Given the description of an element on the screen output the (x, y) to click on. 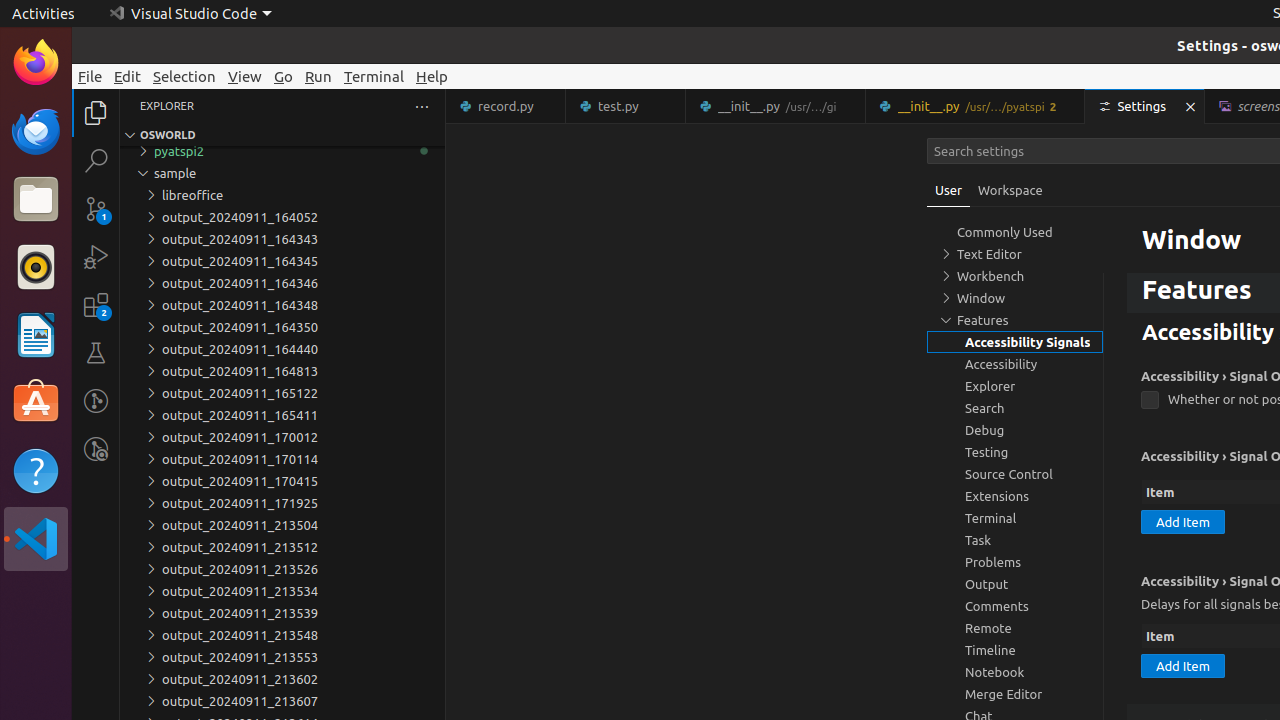
File Element type: push-button (90, 76)
output_20240911_213553 Element type: tree-item (282, 657)
Output, group Element type: tree-item (1015, 584)
